Given the description of an element on the screen output the (x, y) to click on. 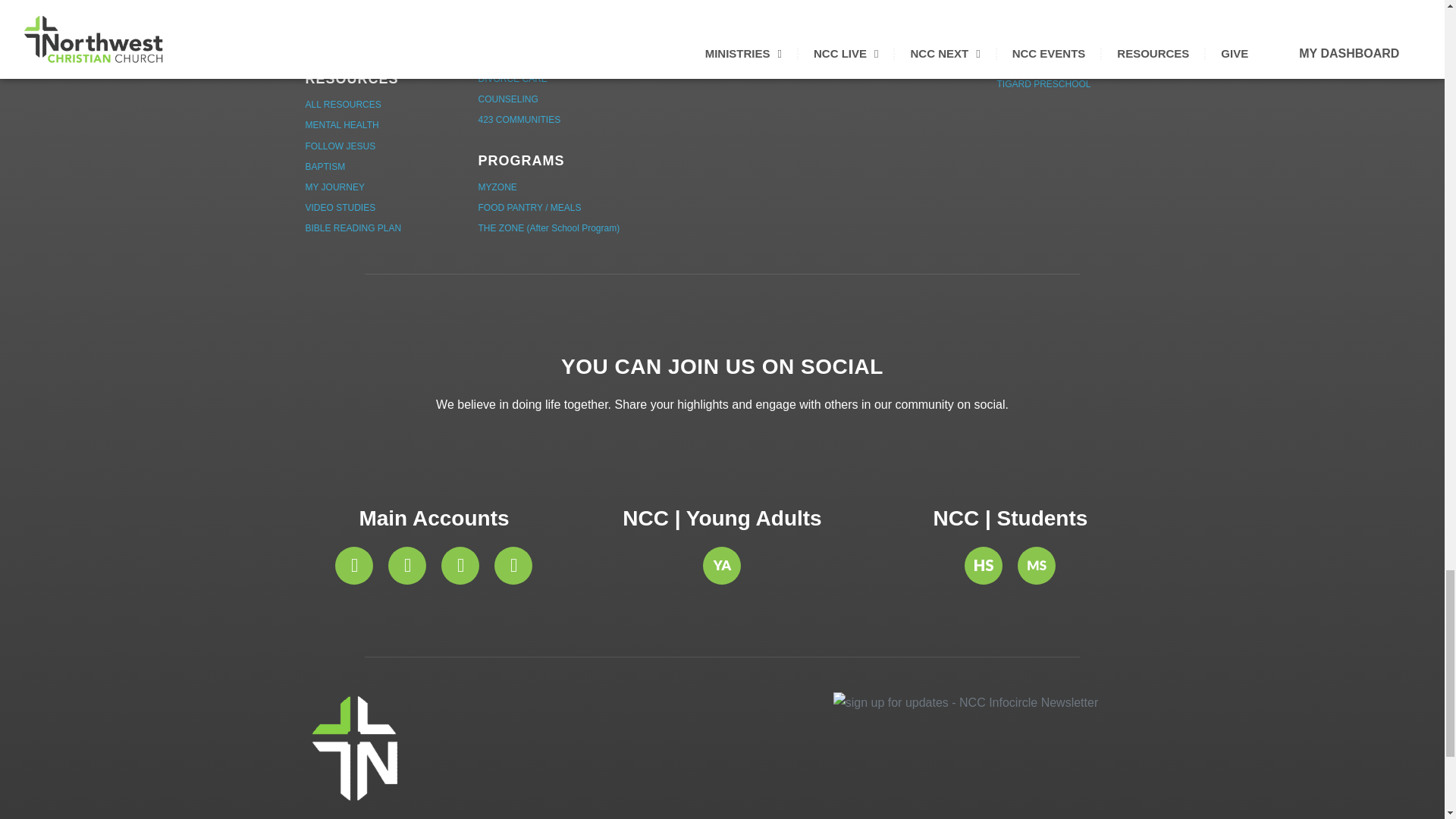
Infocircle-transparent-footer-graphic (964, 702)
